Given the description of an element on the screen output the (x, y) to click on. 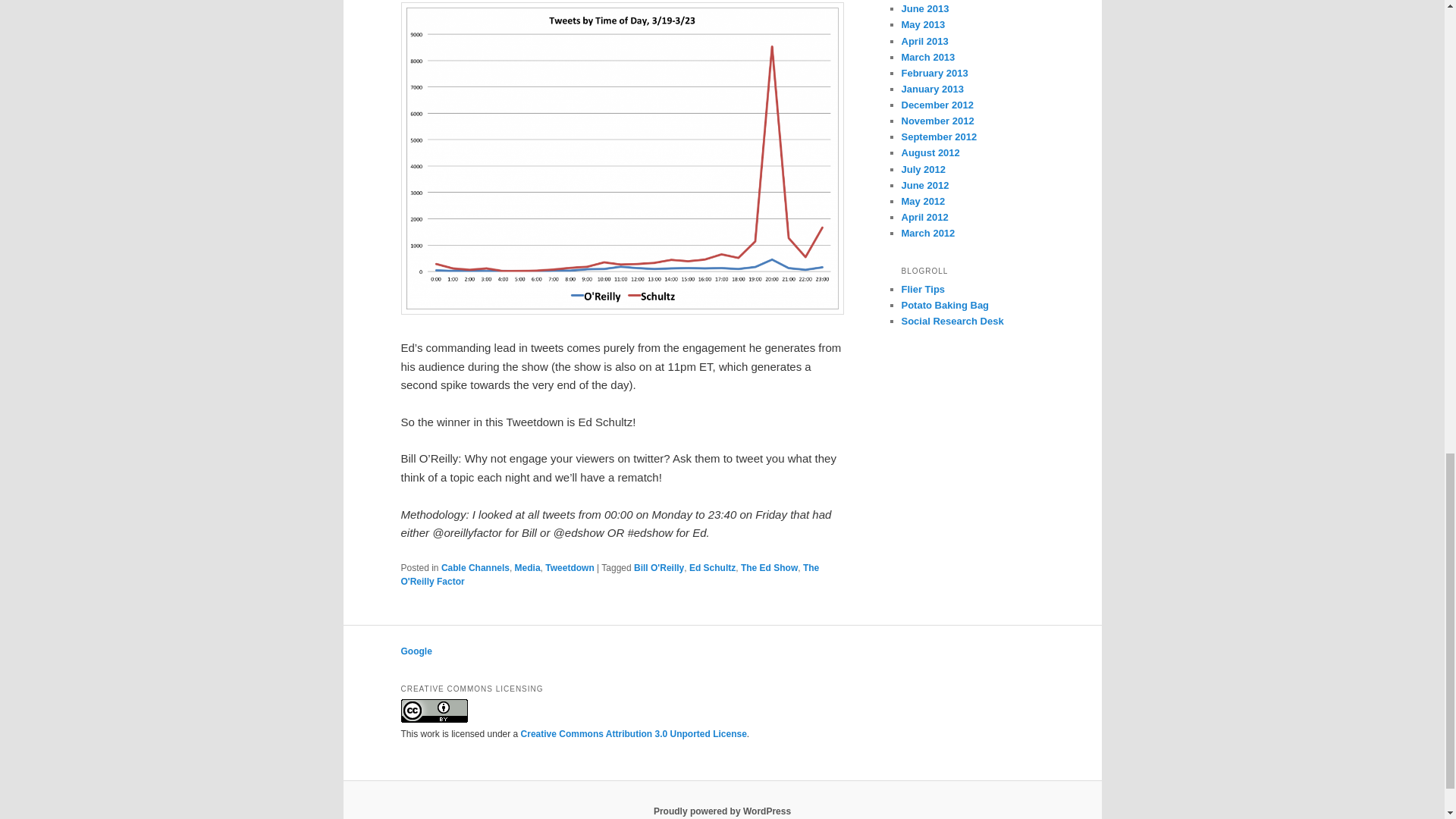
The O'Reilly Factor (609, 574)
Media (527, 567)
Tips, Ideas, and Insight for Travelers (922, 288)
Useful utilities for analyzing Twitter (952, 320)
Bill O'Reilly (658, 567)
Semantic Personal Publishing Platform (721, 810)
The Ed Show (769, 567)
Tweetdown (569, 567)
Ed Schultz (711, 567)
